Given the description of an element on the screen output the (x, y) to click on. 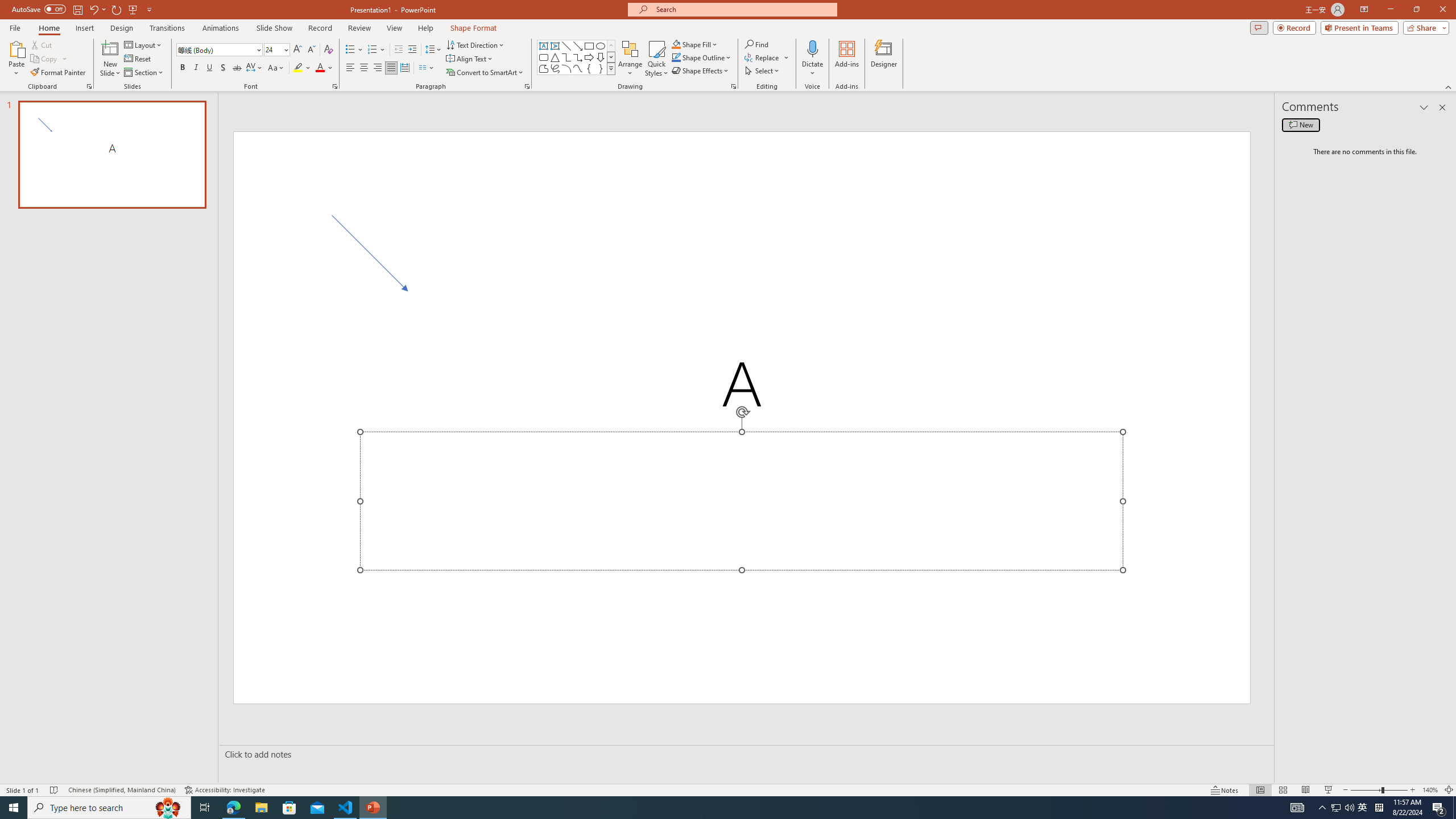
New comment (1300, 124)
